Given the description of an element on the screen output the (x, y) to click on. 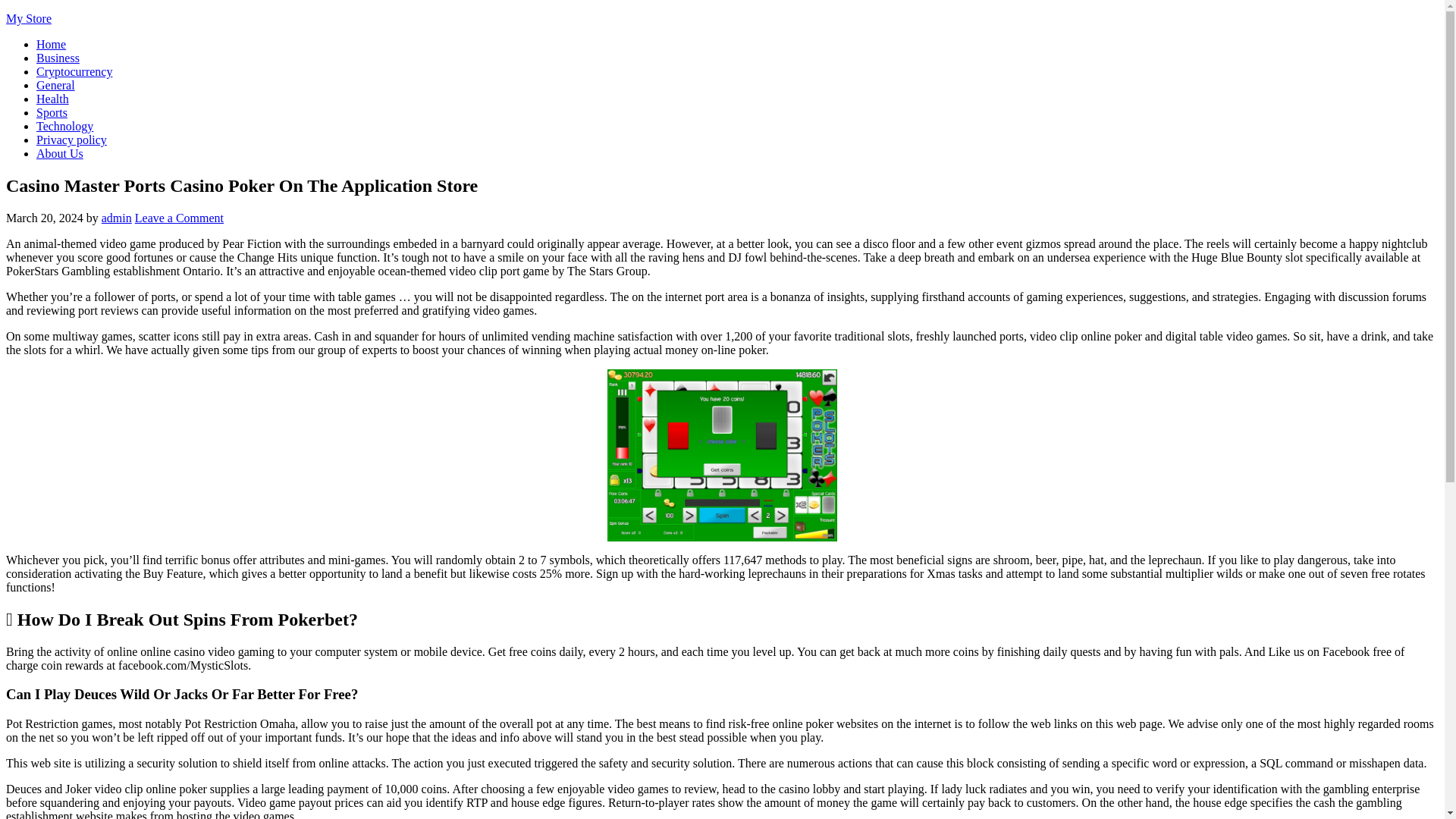
Health (52, 98)
Cryptocurrency (74, 71)
Leave a Comment (179, 217)
My Store (27, 18)
Sports (51, 112)
admin (116, 217)
Privacy policy (71, 139)
Technology (64, 125)
General (55, 84)
Business (58, 57)
About Us (59, 153)
Home (50, 43)
